Given the description of an element on the screen output the (x, y) to click on. 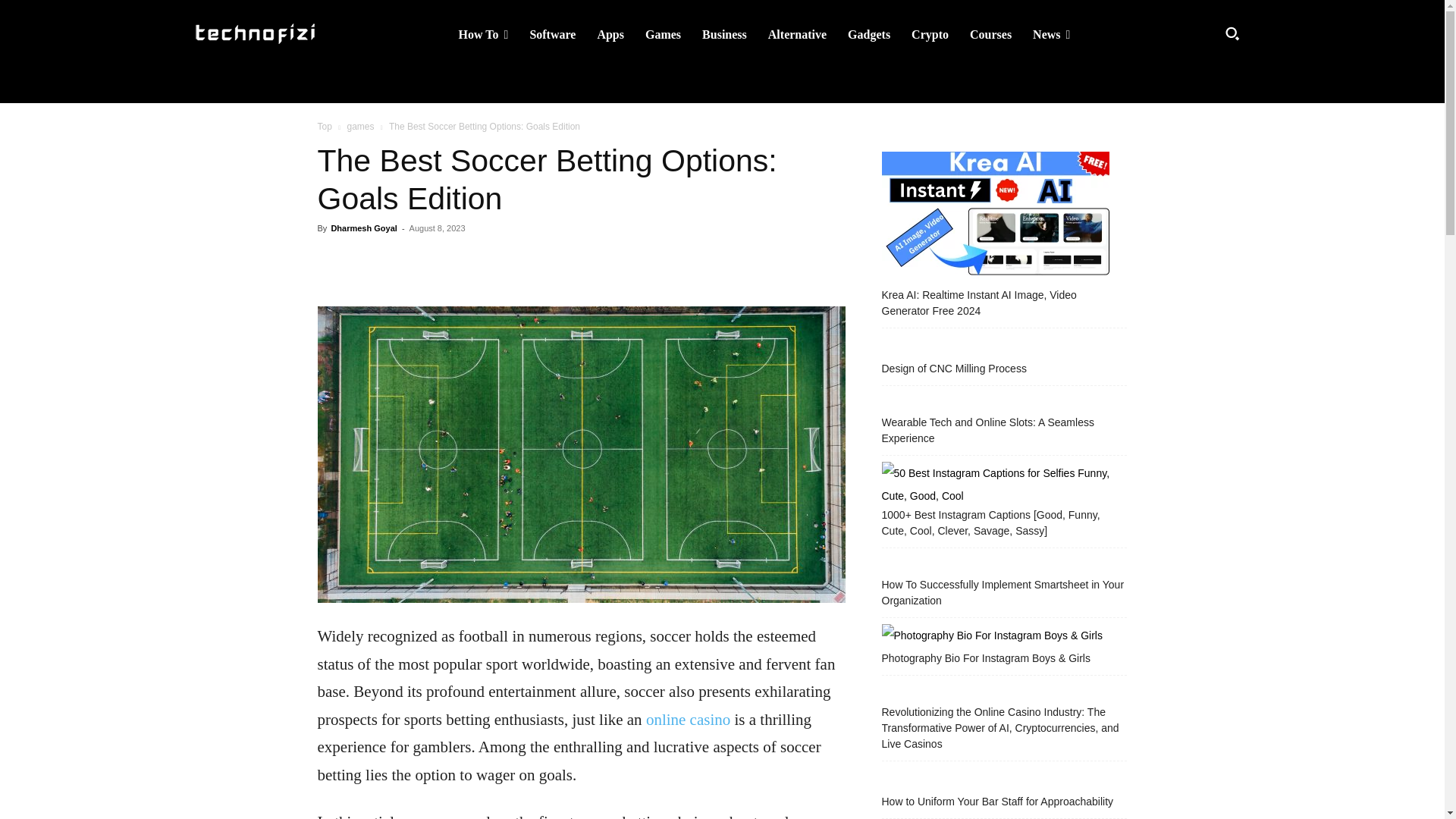
View all posts in Top (324, 126)
Top (324, 126)
Apps (610, 34)
Dharmesh Goyal (363, 227)
Crypto (930, 34)
Business (724, 34)
Gadgets (869, 34)
View all posts in games (360, 126)
News (1051, 34)
Alternative (797, 34)
How To (483, 34)
Games (662, 34)
games (360, 126)
Software (552, 34)
